Given the description of an element on the screen output the (x, y) to click on. 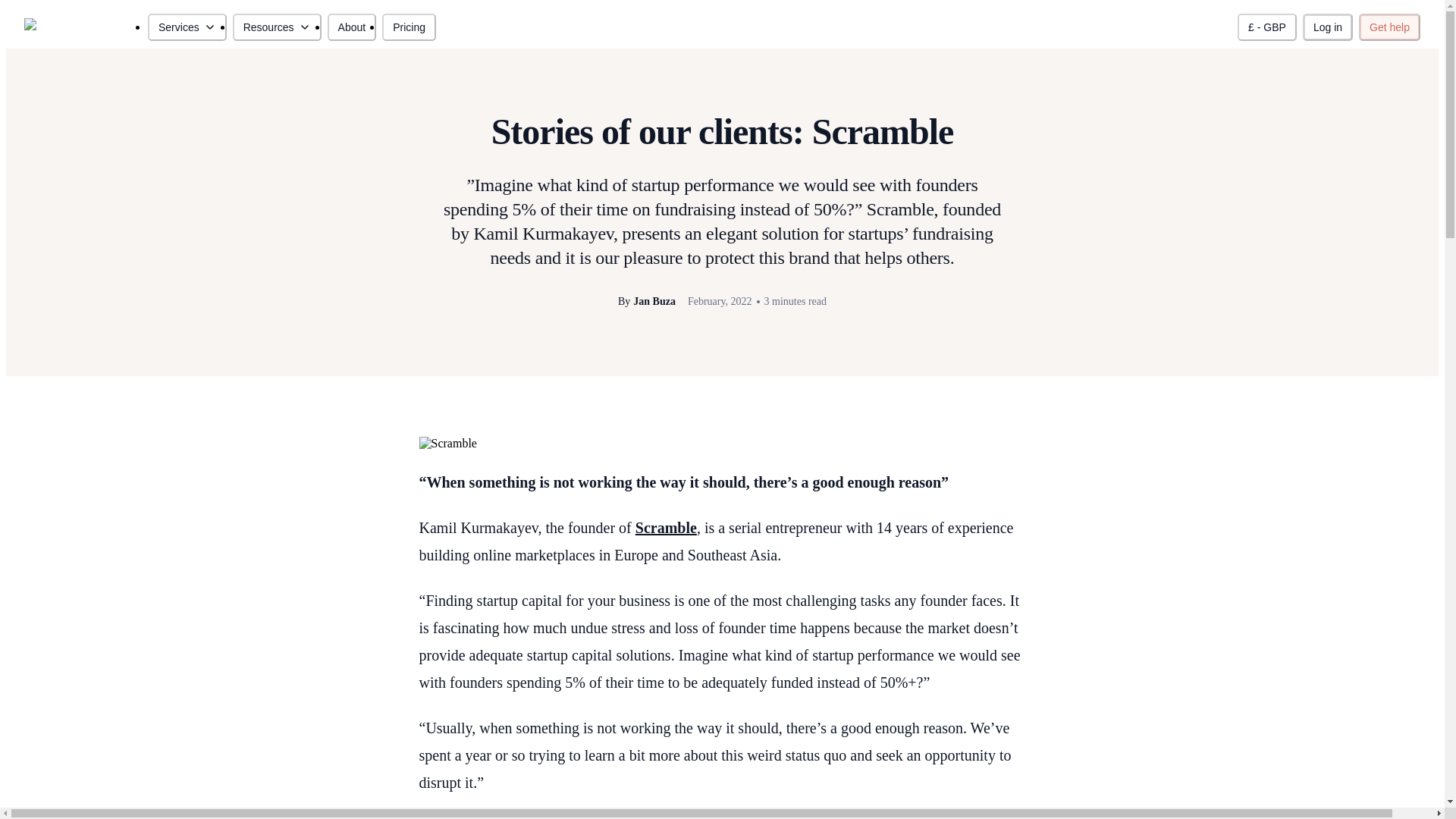
Services (187, 26)
Resources (276, 26)
